Given the description of an element on the screen output the (x, y) to click on. 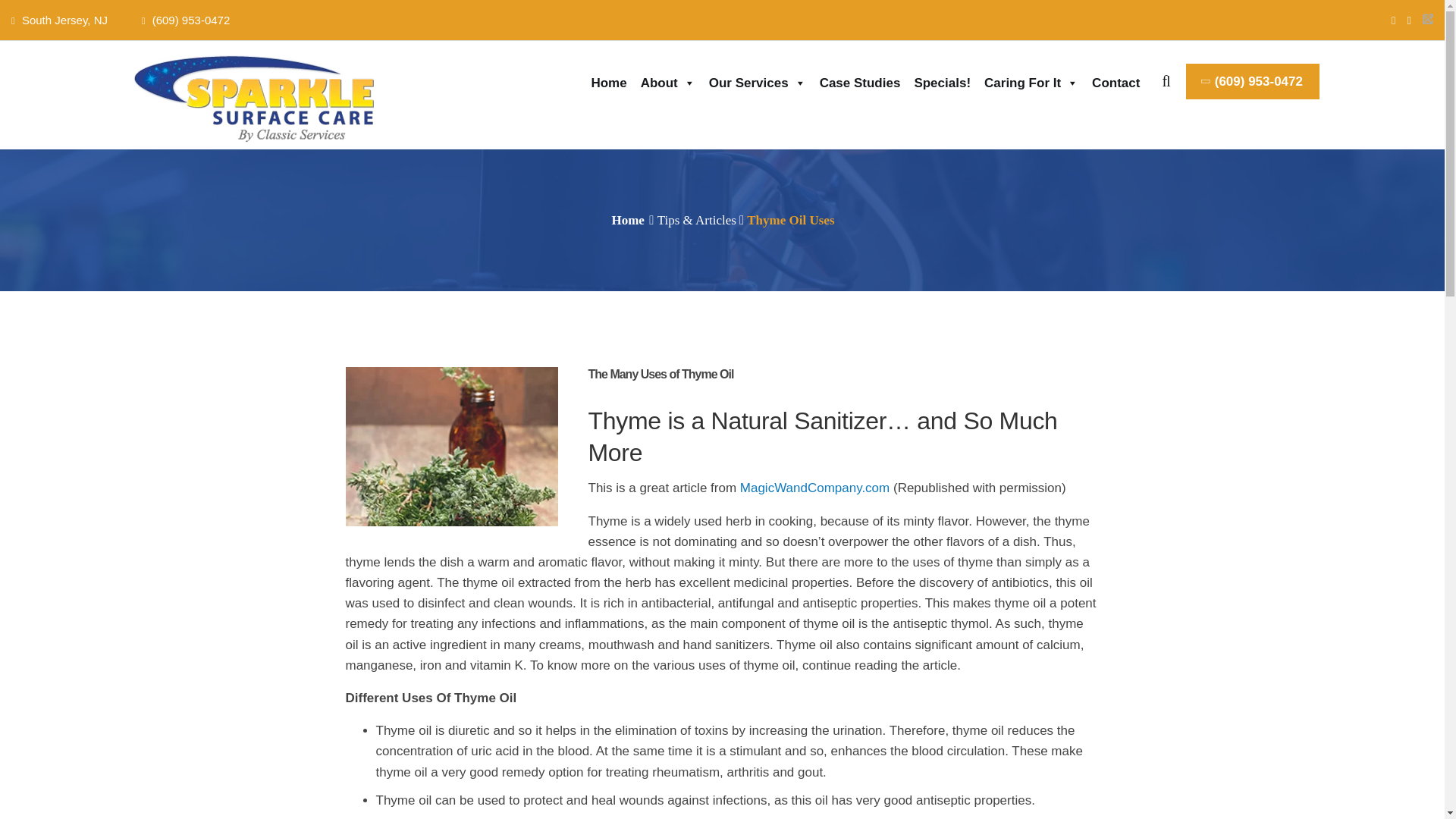
Our Services (757, 80)
SPARKLE Surface Care (265, 97)
South Jersey, NJ (66, 20)
